Given the description of an element on the screen output the (x, y) to click on. 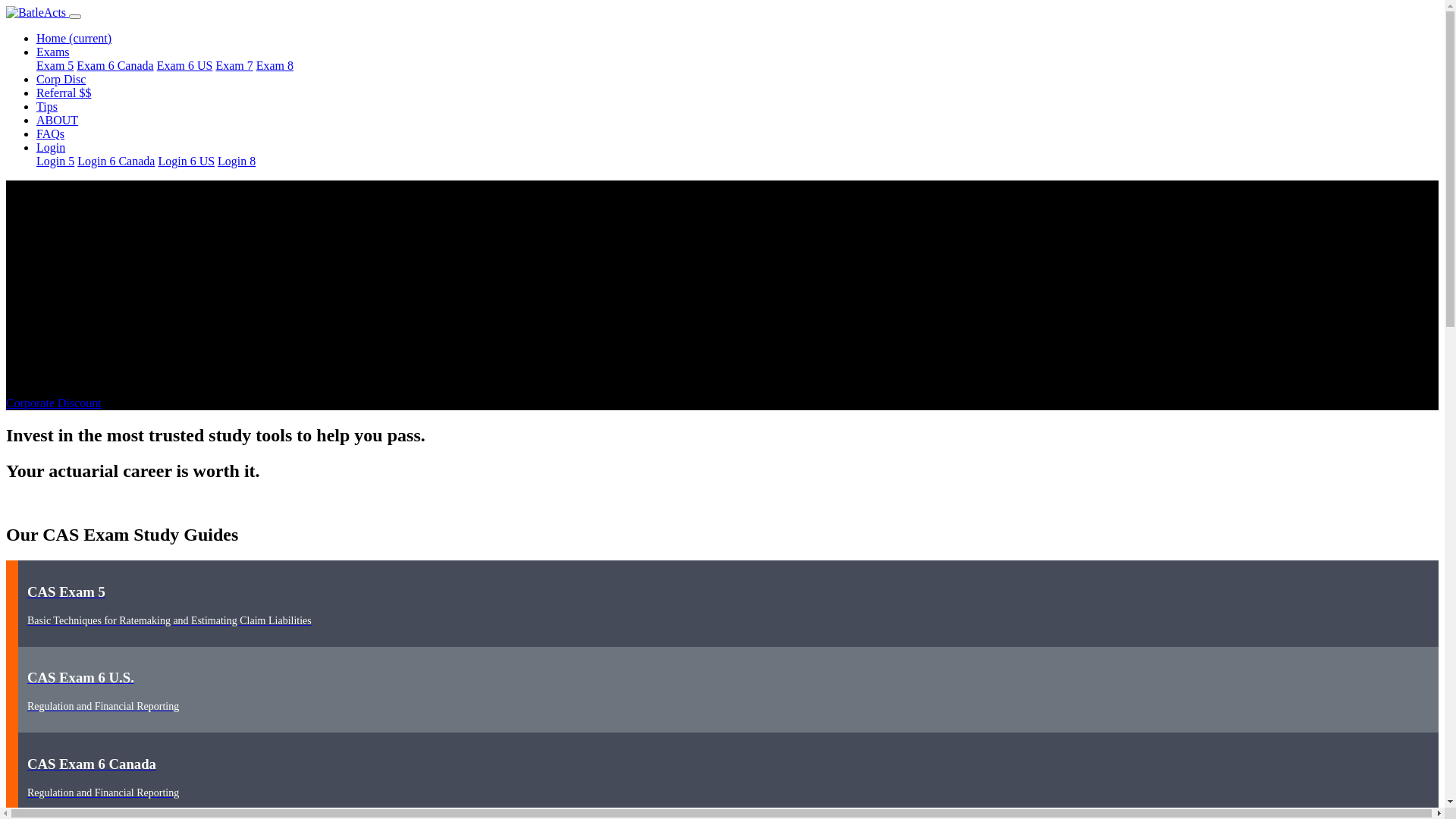
Login Element type: text (50, 147)
Login 6 US Element type: text (185, 160)
Home (current) Element type: text (73, 37)
Exams Element type: text (52, 51)
Login 6 Canada Element type: text (115, 160)
Tips Element type: text (46, 106)
Exam 6 Canada Element type: text (114, 65)
Referral $$ Element type: text (63, 92)
Login 8 Element type: text (236, 160)
Exam 5 Element type: text (54, 65)
Login 5 Element type: text (55, 160)
BatleActs Element type: hover (35, 12)
Exam 7 Element type: text (233, 65)
FAQs Element type: text (50, 133)
CAS Exam 6 Canada
Regulation and Financial Reporting Element type: text (722, 775)
Corp Disc Element type: text (60, 78)
Exam 8 Element type: text (274, 65)
CAS Exam 6 U.S.
Regulation and Financial Reporting Element type: text (722, 689)
ABOUT Element type: text (57, 119)
Exam 6 US Element type: text (184, 65)
Corporate Discount Element type: text (53, 402)
